Given the description of an element on the screen output the (x, y) to click on. 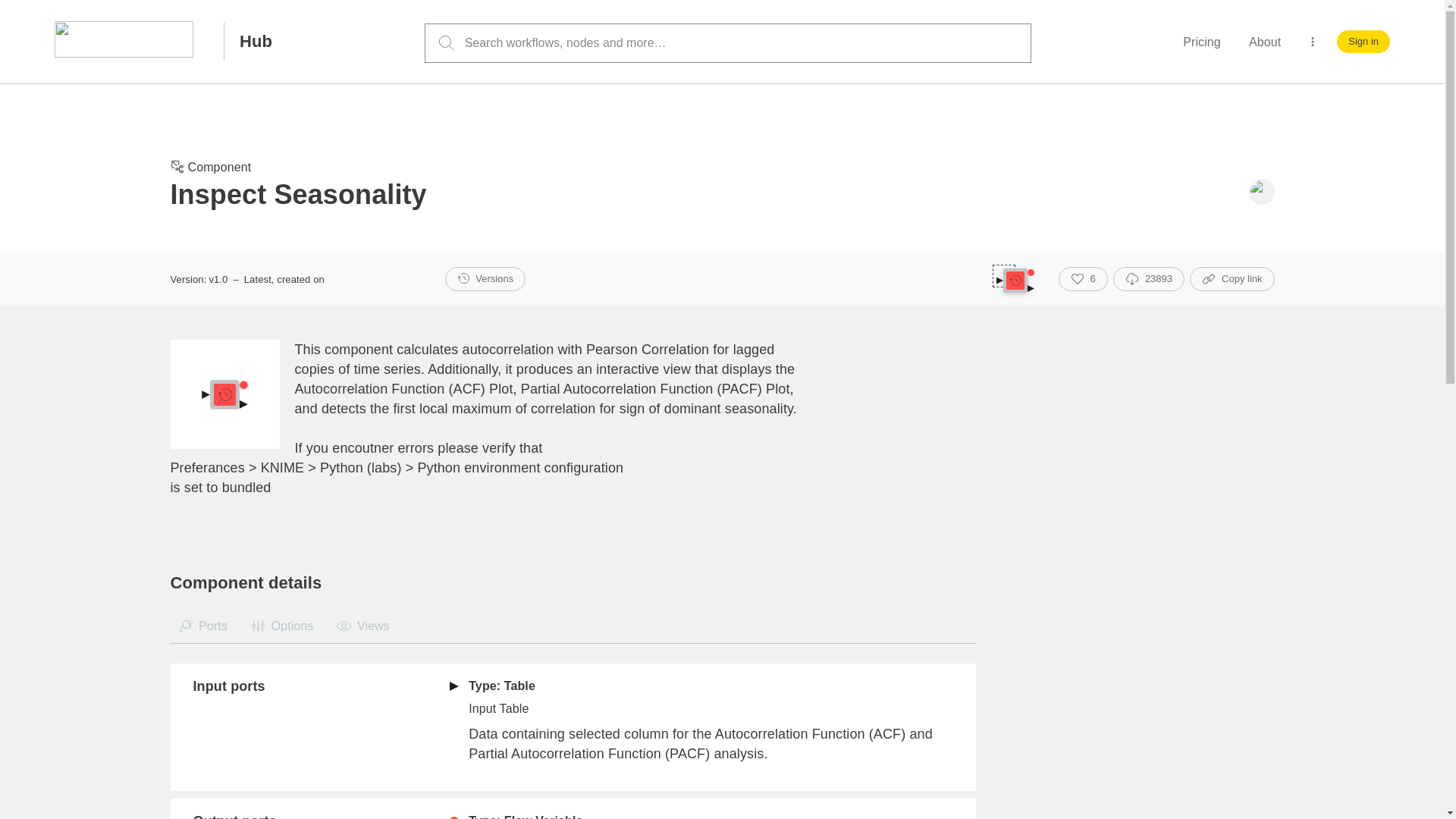
About KNIME Community Hub (1264, 42)
About (1264, 42)
Space owner: knime (1260, 191)
Pricing for KNIME Community Hub (1201, 42)
23893 (1149, 278)
Search (446, 43)
Hub (251, 41)
Copy link (1231, 278)
